Given the description of an element on the screen output the (x, y) to click on. 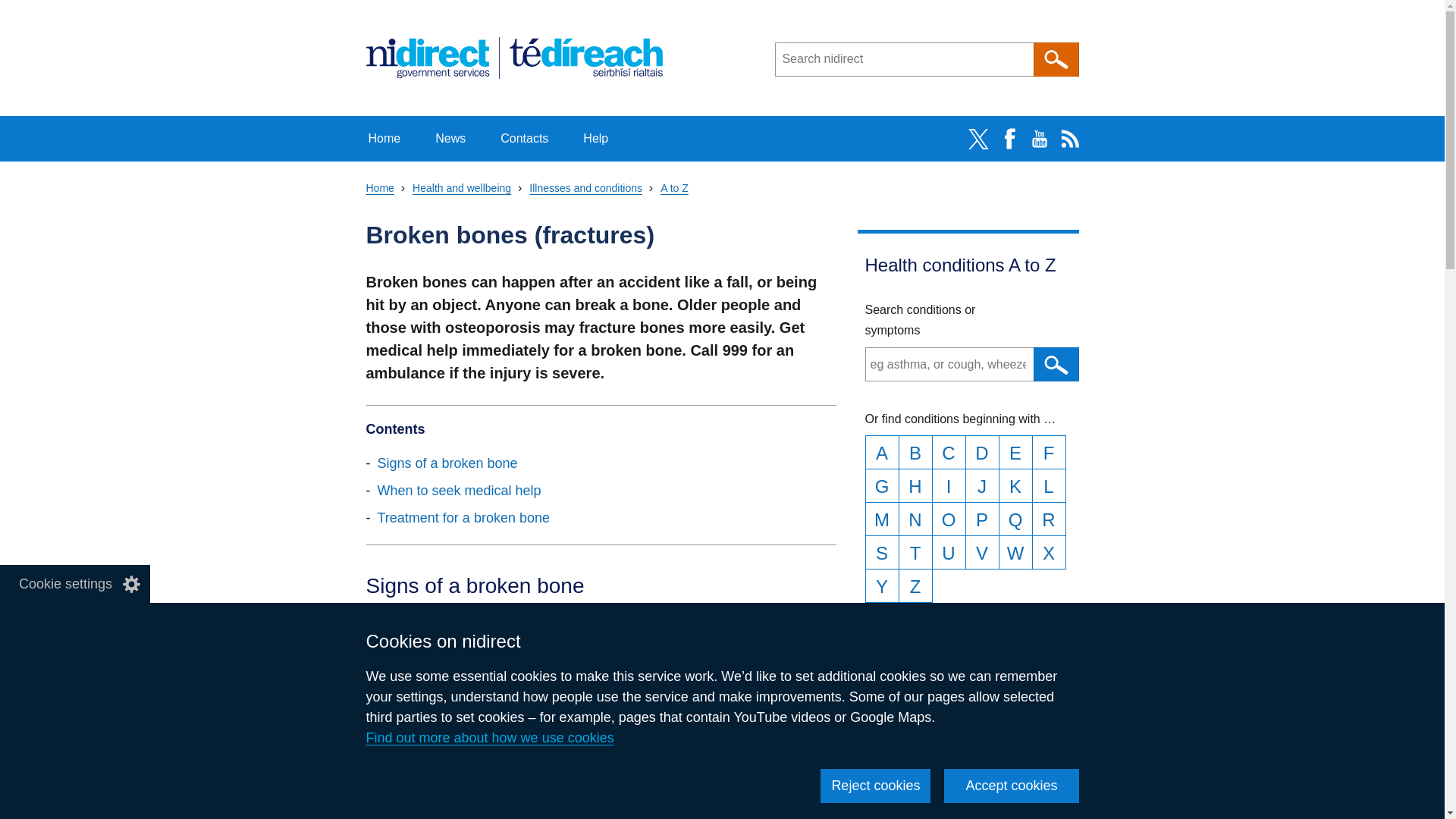
View entries under S (881, 552)
View entries under A (881, 451)
Accept cookies (1010, 786)
RSS (1069, 138)
YouTube (1038, 138)
News (450, 138)
View entries under E (1014, 451)
Find out more about how we use cookies (488, 737)
Facebook (1007, 138)
View entries under B (914, 451)
Home (383, 138)
Cookie settings (74, 583)
View entries under H (914, 485)
Search (1055, 59)
View entries under I (948, 485)
